Given the description of an element on the screen output the (x, y) to click on. 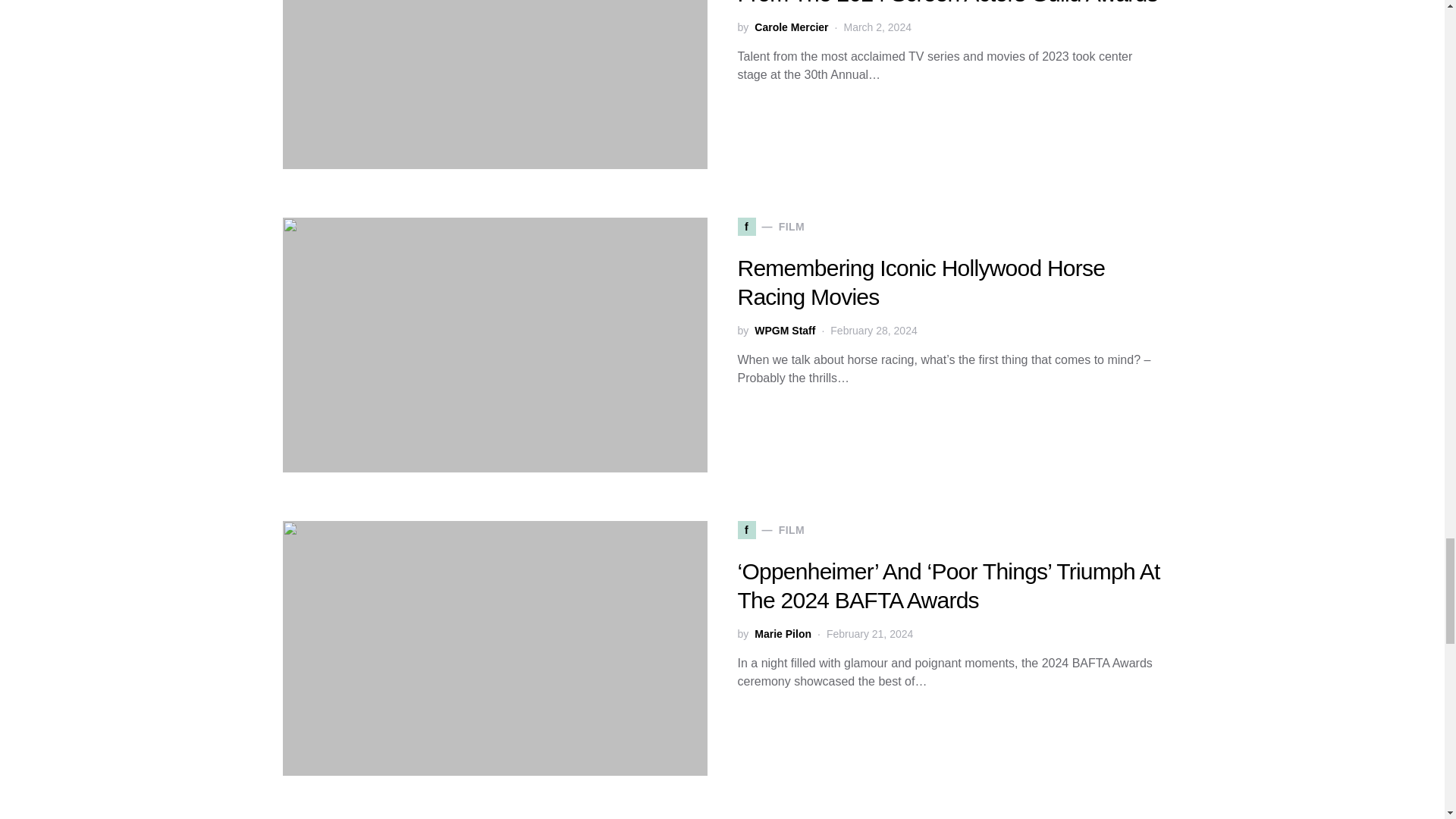
View all posts by Marie Pilon (782, 634)
View all posts by Carole Mercier (791, 27)
View all posts by WPGM Staff (784, 330)
